Given the description of an element on the screen output the (x, y) to click on. 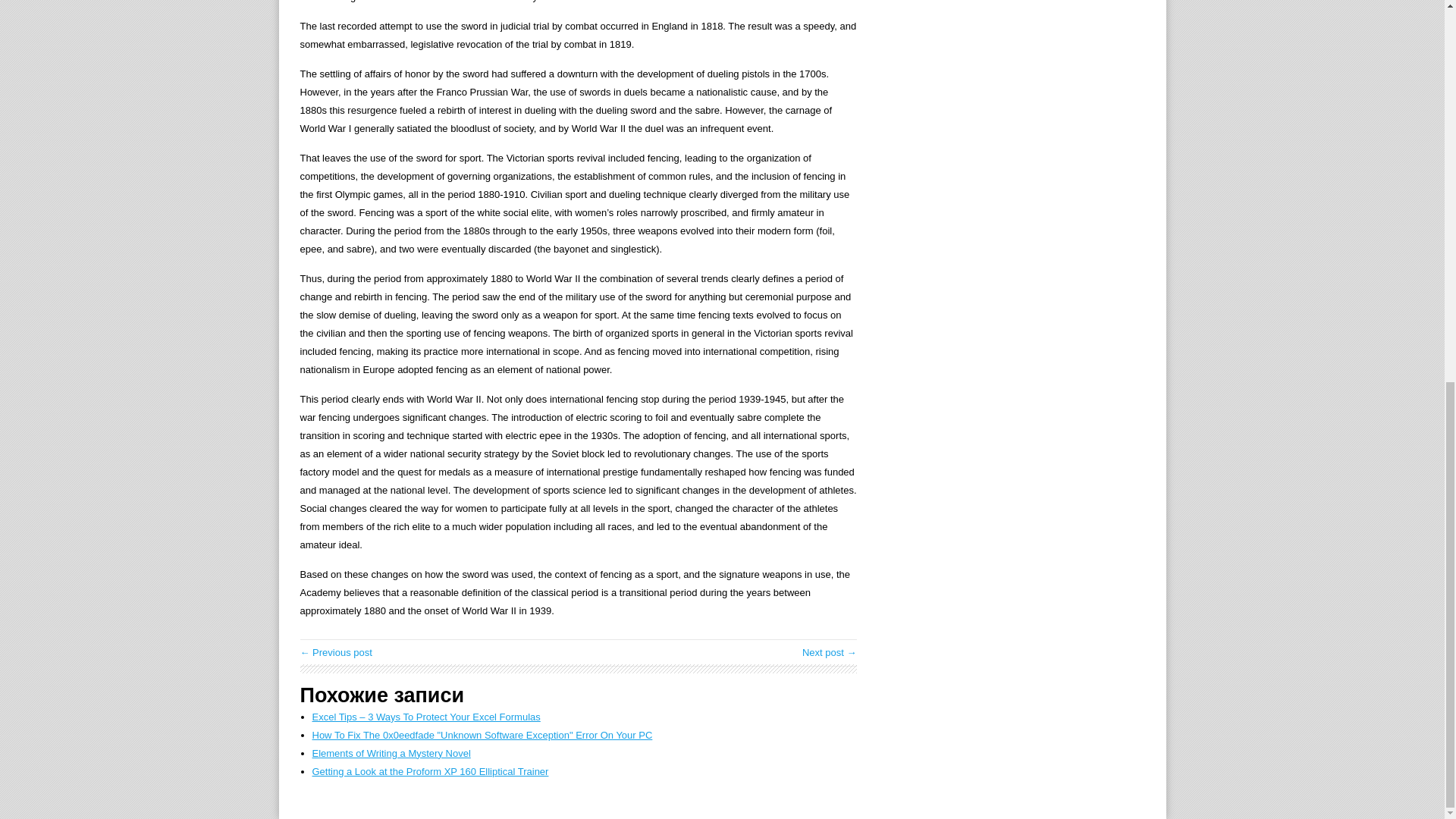
Getting a Look at the Proform XP 160 Elliptical Trainer (430, 771)
Elements of Writing a Mystery Novel (391, 753)
Antibiotics, Best Natural Sources (829, 652)
